Given the description of an element on the screen output the (x, y) to click on. 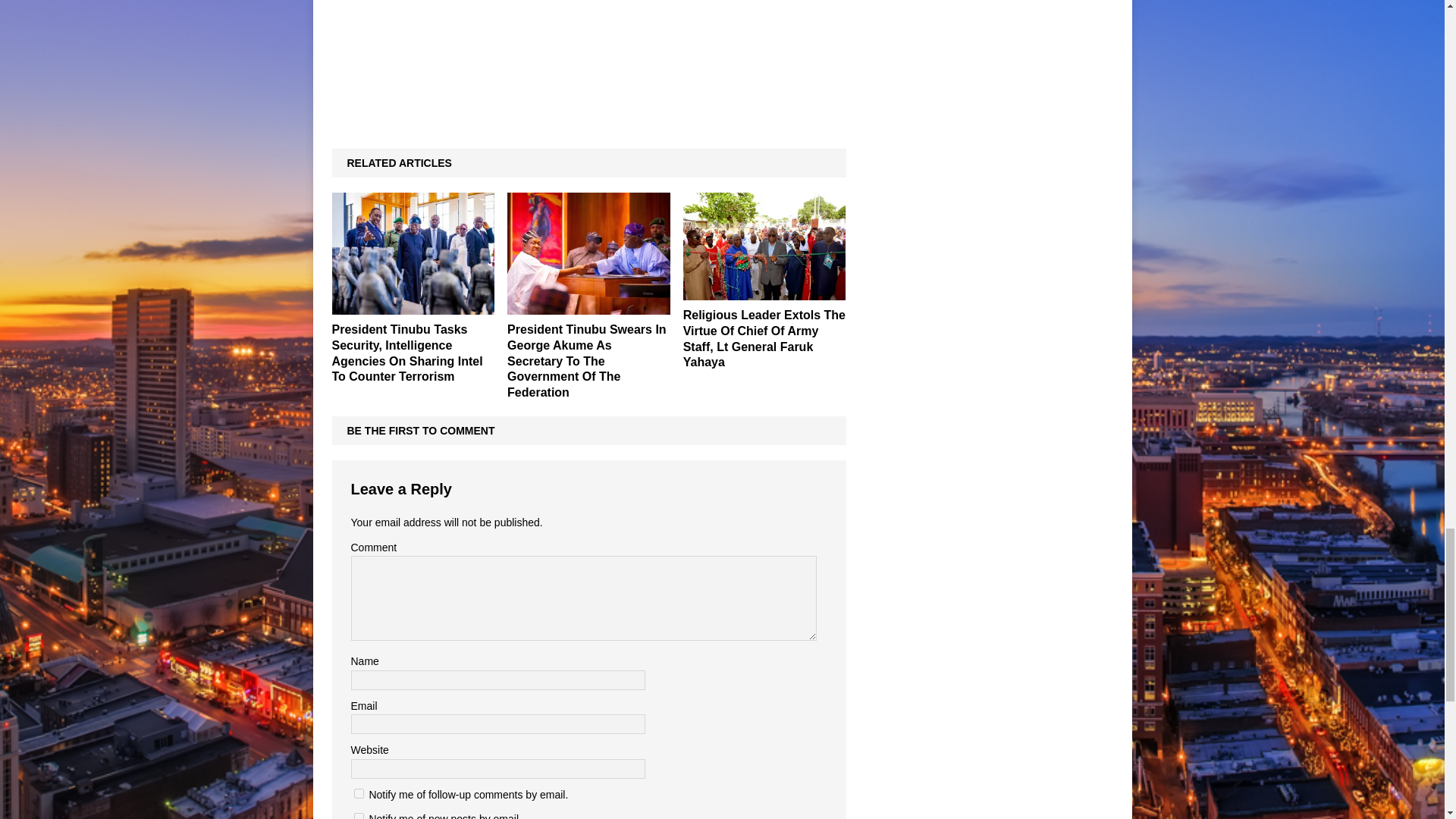
subscribe (357, 793)
subscribe (357, 816)
